Given the description of an element on the screen output the (x, y) to click on. 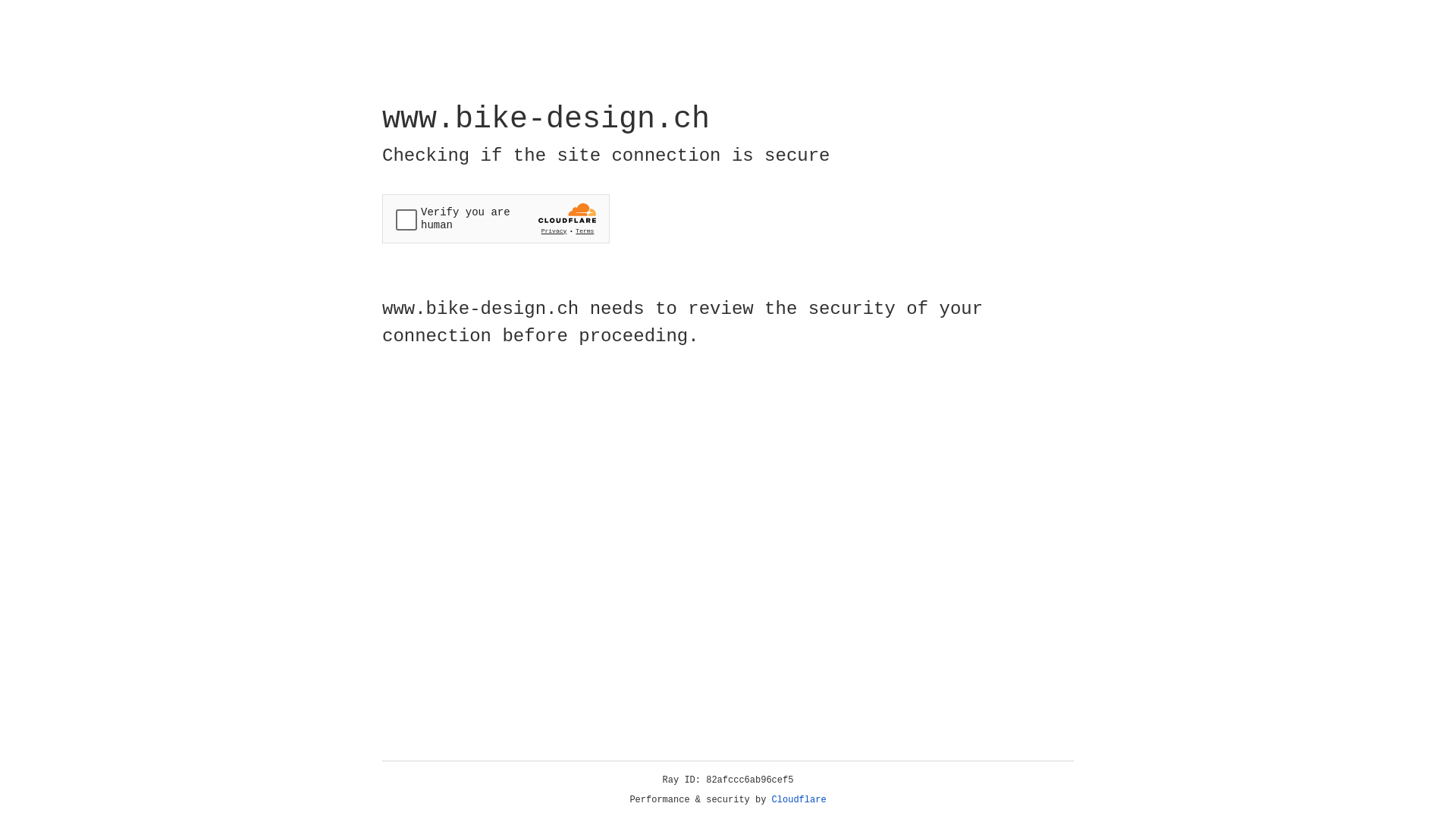
Cloudflare Element type: text (798, 799)
Widget containing a Cloudflare security challenge Element type: hover (495, 218)
